Given the description of an element on the screen output the (x, y) to click on. 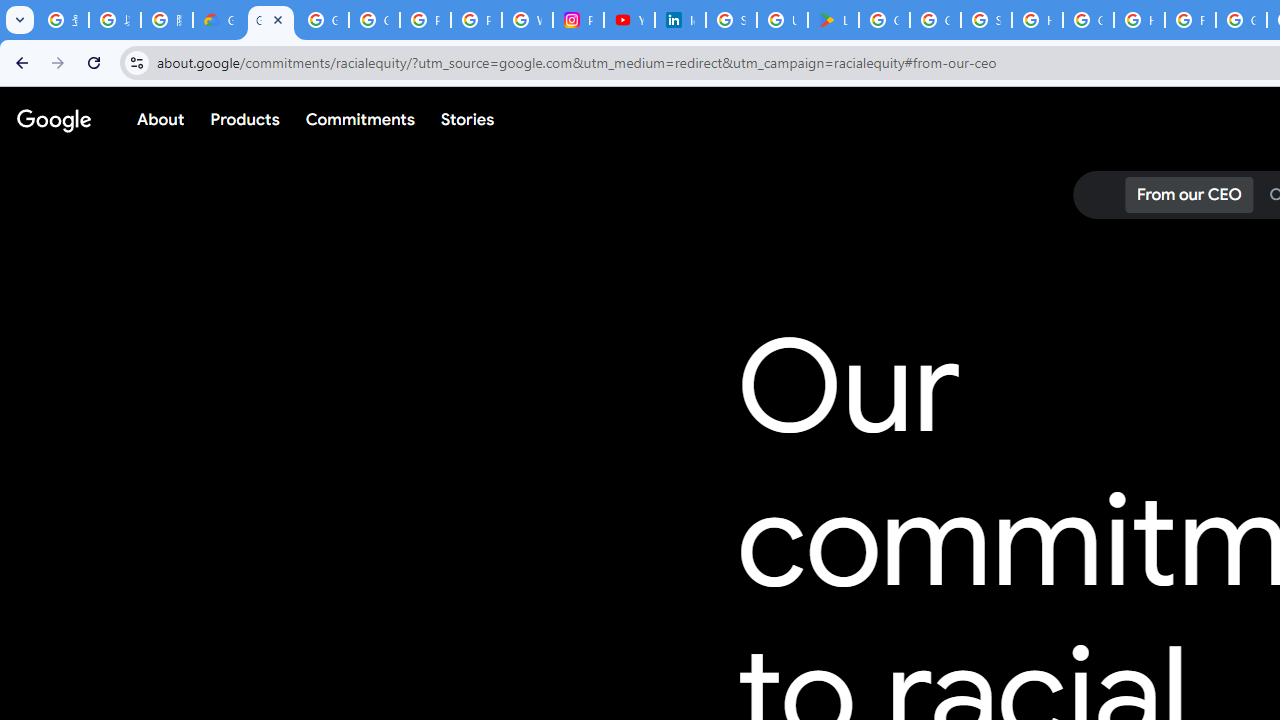
Privacy Help Center - Policies Help (475, 20)
Google (54, 119)
Last Shelter: Survival - Apps on Google Play (832, 20)
Commitments (359, 119)
YouTube Culture & Trends - On The Rise: Handcam Videos (629, 20)
